Given the description of an element on the screen output the (x, y) to click on. 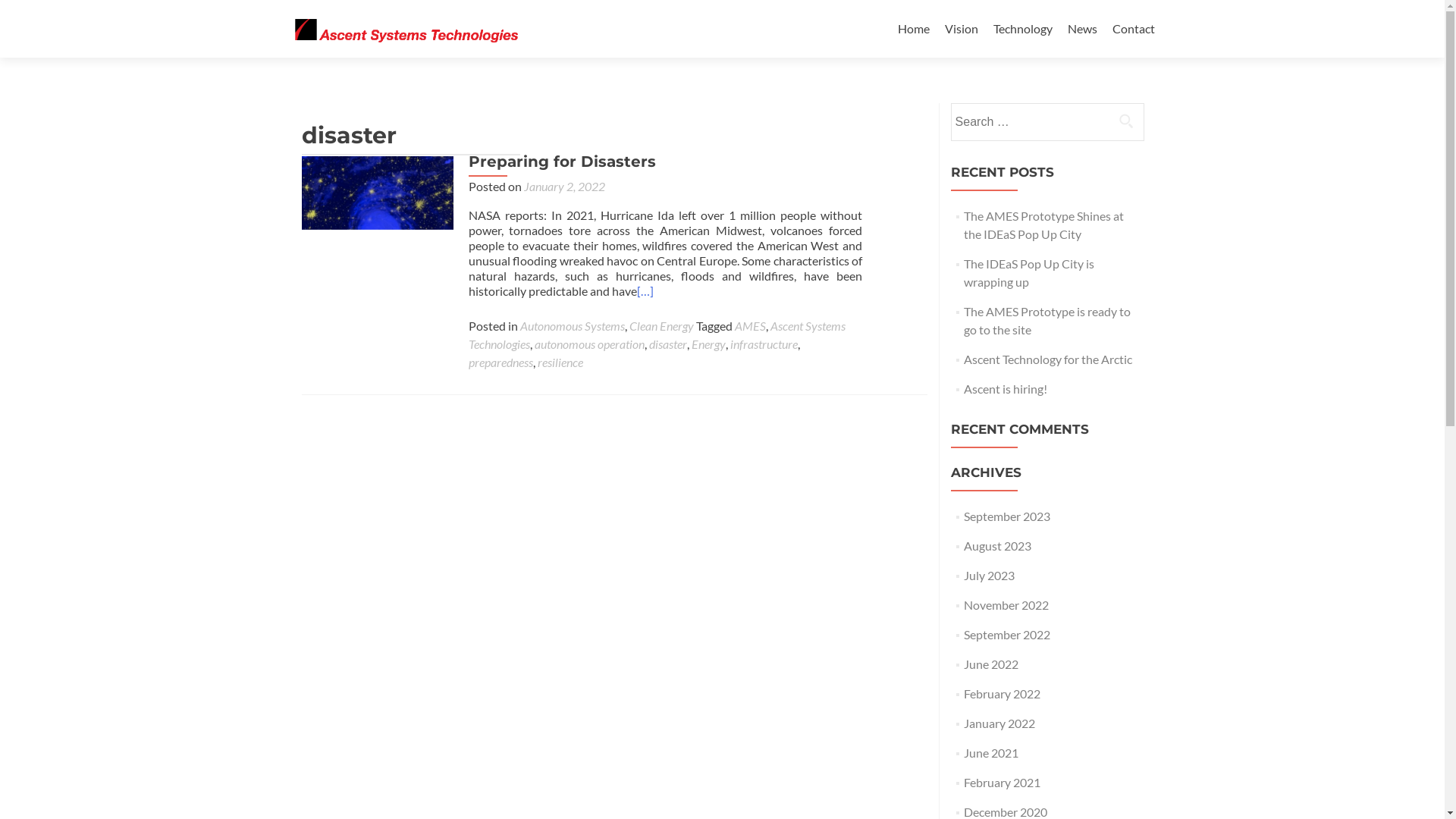
Search Element type: text (1125, 120)
Technology Element type: text (1022, 28)
Vision Element type: text (961, 28)
July 2023 Element type: text (988, 574)
Energy Element type: text (708, 343)
January 2, 2022 Element type: text (563, 185)
February 2021 Element type: text (1001, 782)
Home Element type: text (913, 28)
resilience Element type: text (559, 361)
Ascent is hiring! Element type: text (1005, 388)
News Element type: text (1082, 28)
Preparing for Disasters Element type: hover (377, 231)
Clean Energy Element type: text (661, 325)
August 2023 Element type: text (997, 545)
AMES Element type: text (749, 325)
autonomous operation Element type: text (588, 343)
November 2022 Element type: text (1005, 604)
infrastructure Element type: text (763, 343)
Ascent Systems Technologies Element type: text (656, 334)
Ascent Technology for the Arctic Element type: text (1047, 358)
September 2023 Element type: text (1006, 515)
disaster Element type: text (668, 343)
Autonomous Systems Element type: text (572, 325)
preparedness Element type: text (500, 361)
September 2022 Element type: text (1006, 634)
The AMES Prototype Shines at the IDEaS Pop Up City Element type: text (1043, 224)
The IDEaS Pop Up City is wrapping up Element type: text (1028, 272)
The AMES Prototype is ready to go to the site Element type: text (1046, 320)
June 2022 Element type: text (990, 663)
January 2022 Element type: text (999, 722)
Contact Element type: text (1132, 28)
June 2021 Element type: text (990, 752)
Preparing for Disasters Element type: text (561, 161)
February 2022 Element type: text (1001, 693)
